Given the description of an element on the screen output the (x, y) to click on. 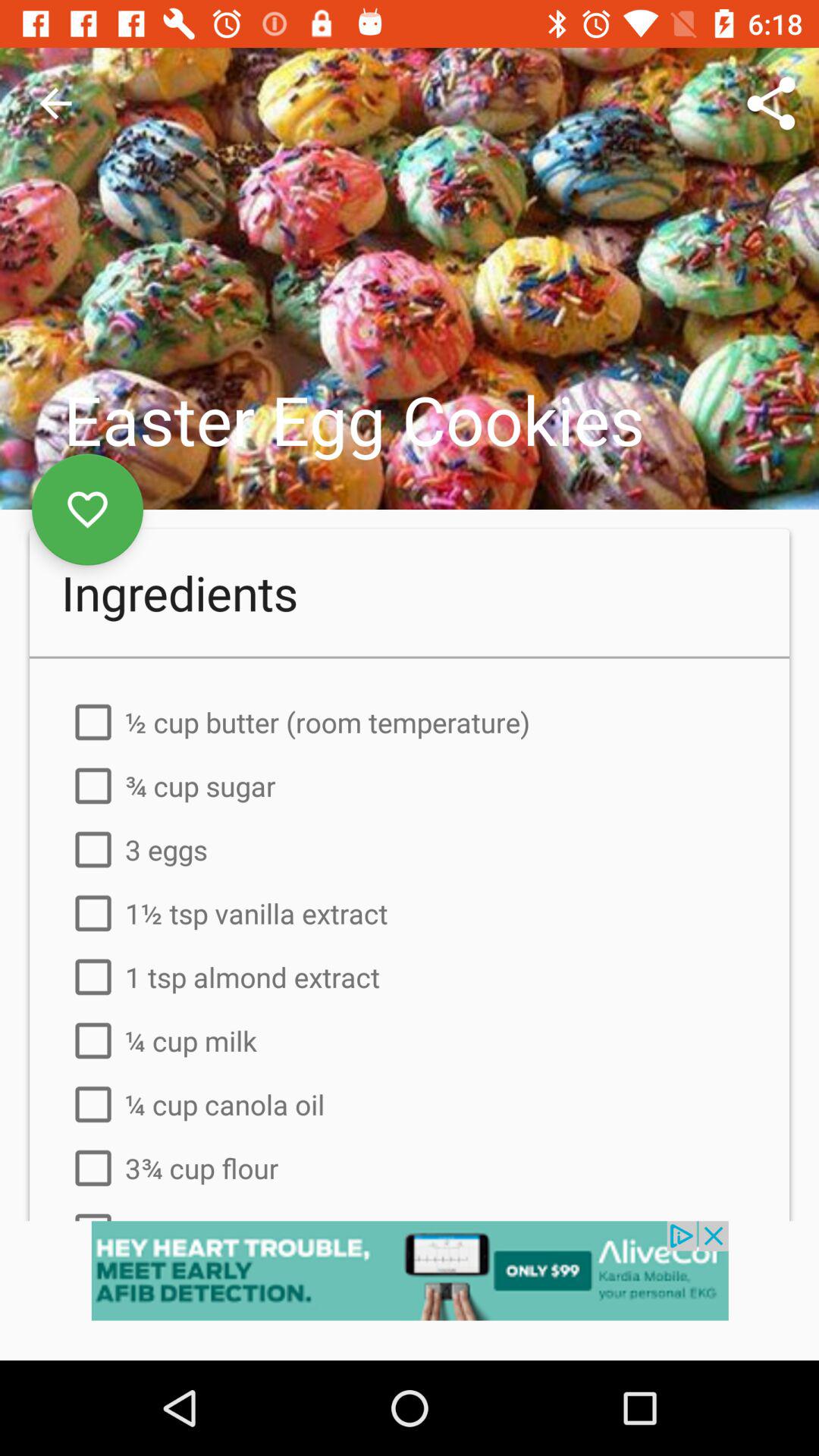
select to like and save this recipe (87, 509)
